Given the description of an element on the screen output the (x, y) to click on. 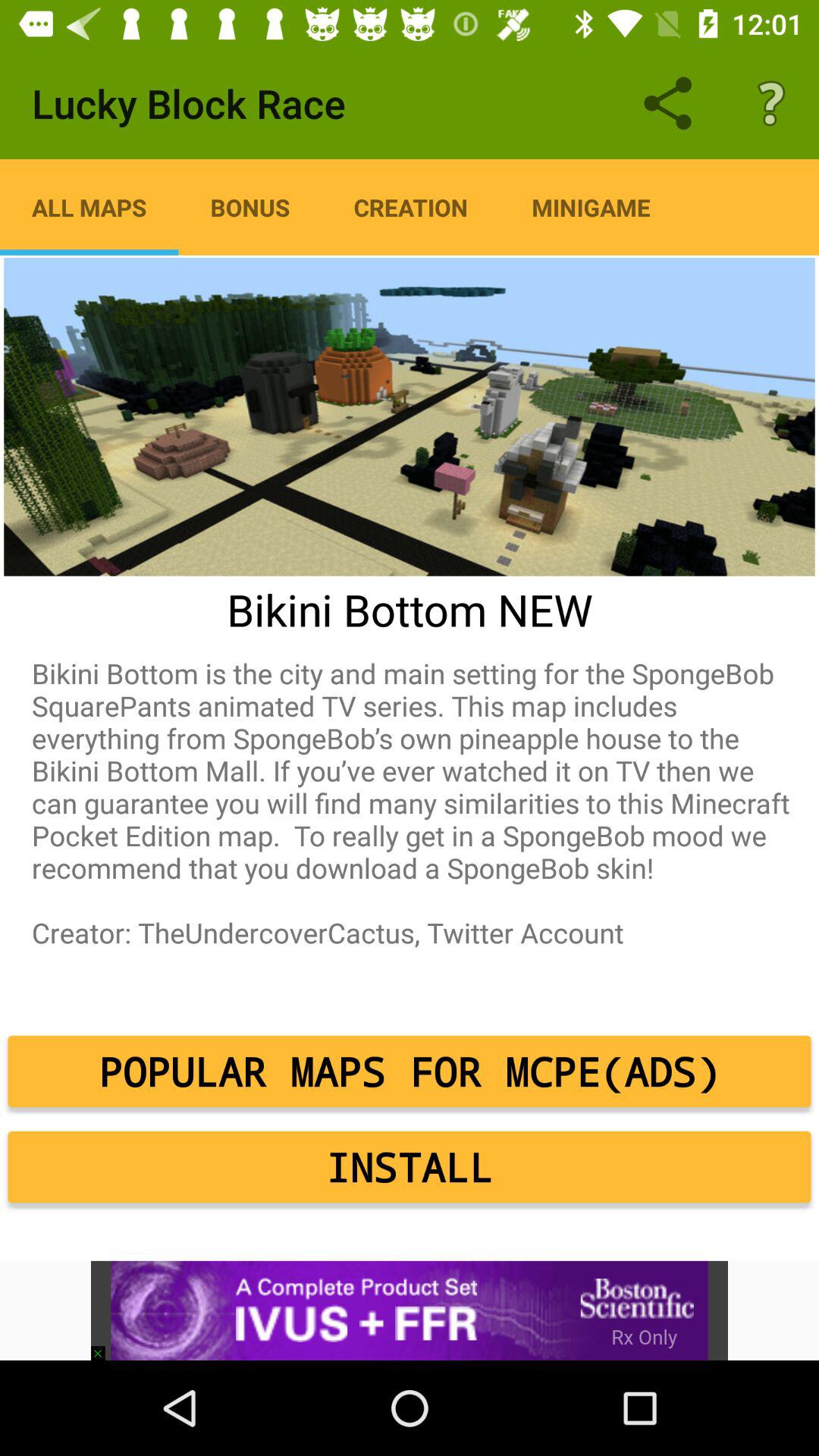
select item to the left of bonus icon (89, 207)
